Given the description of an element on the screen output the (x, y) to click on. 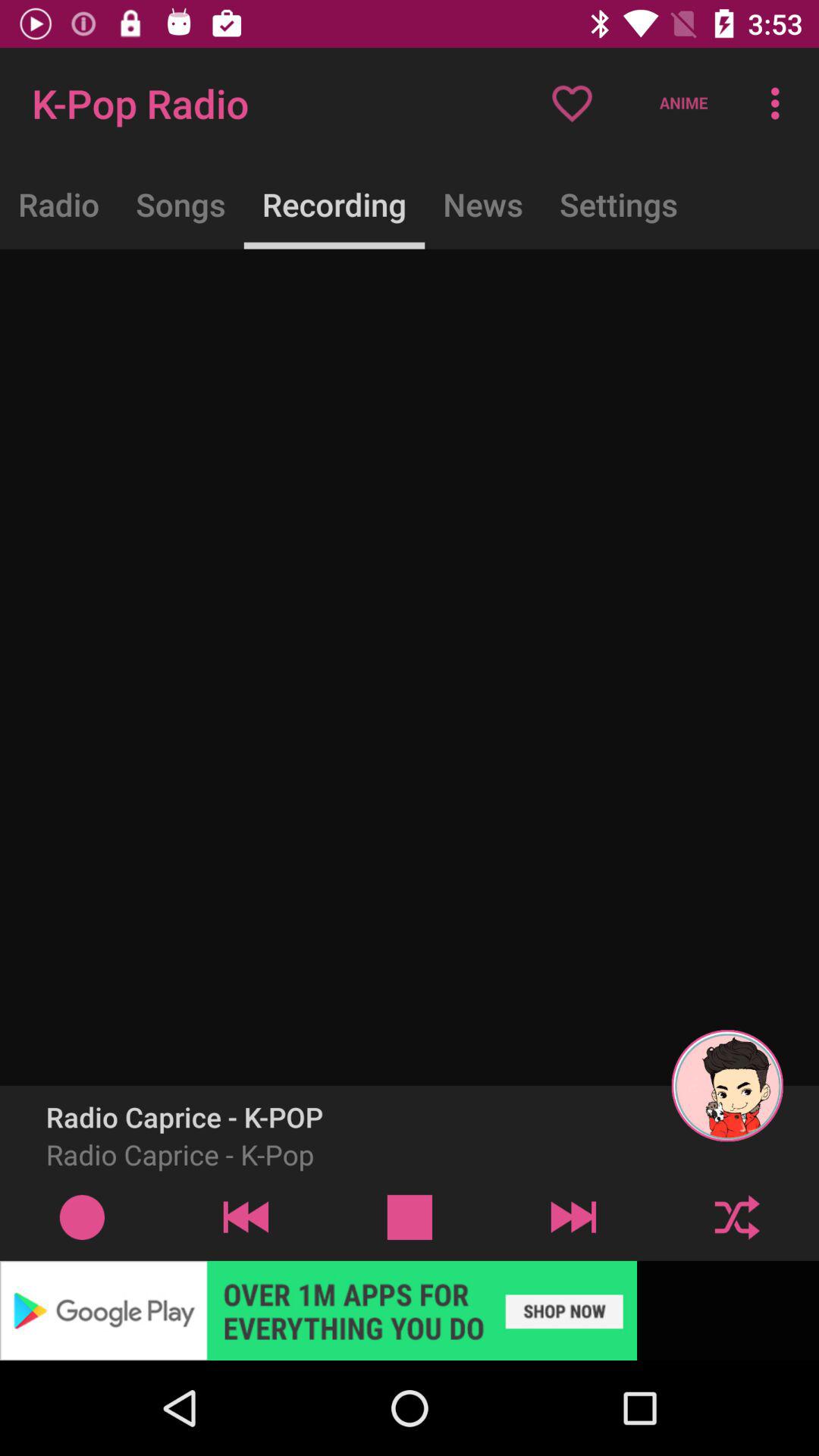
move forward icon (573, 1216)
